Given the description of an element on the screen output the (x, y) to click on. 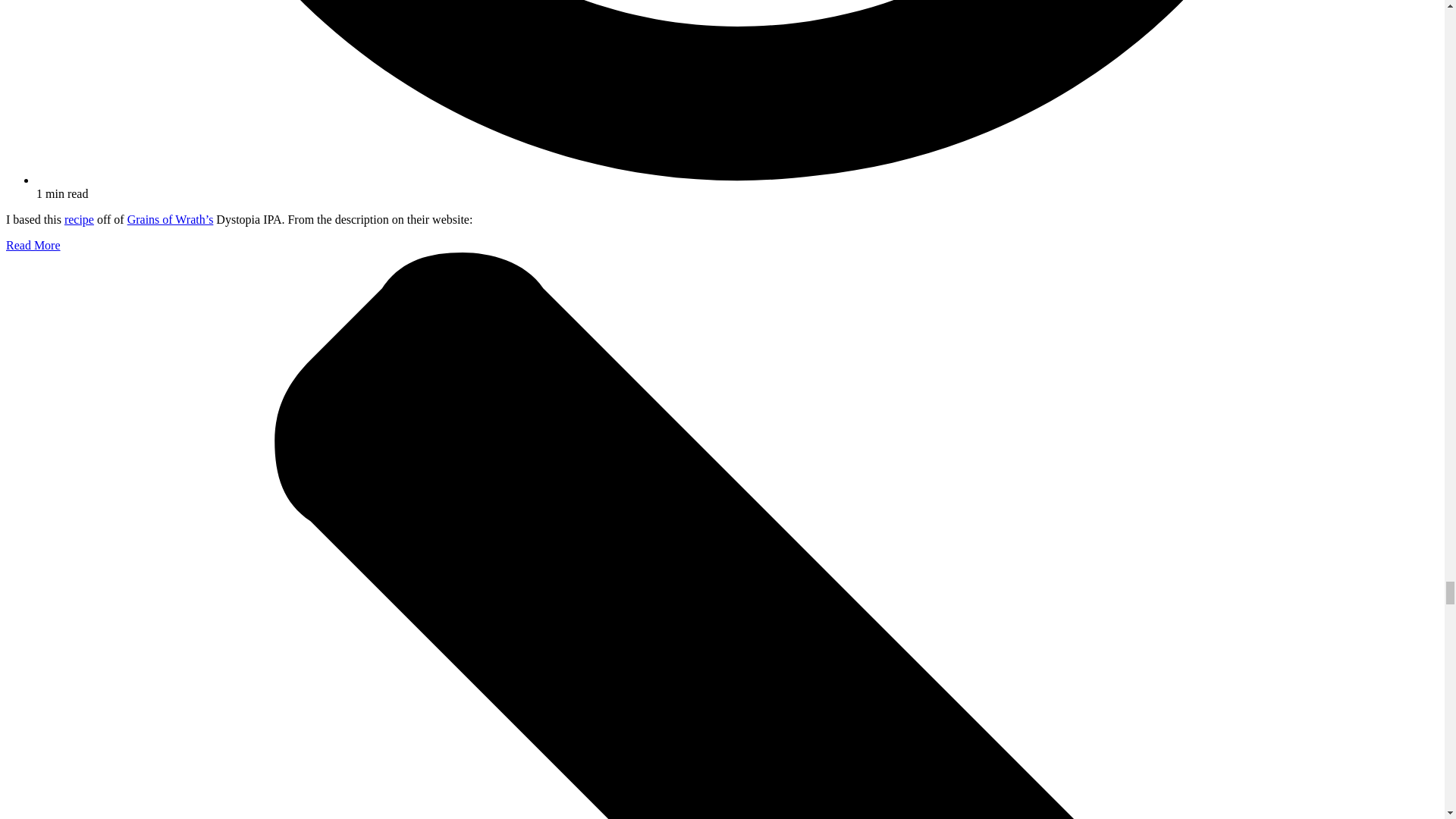
recipe (79, 219)
